Given the description of an element on the screen output the (x, y) to click on. 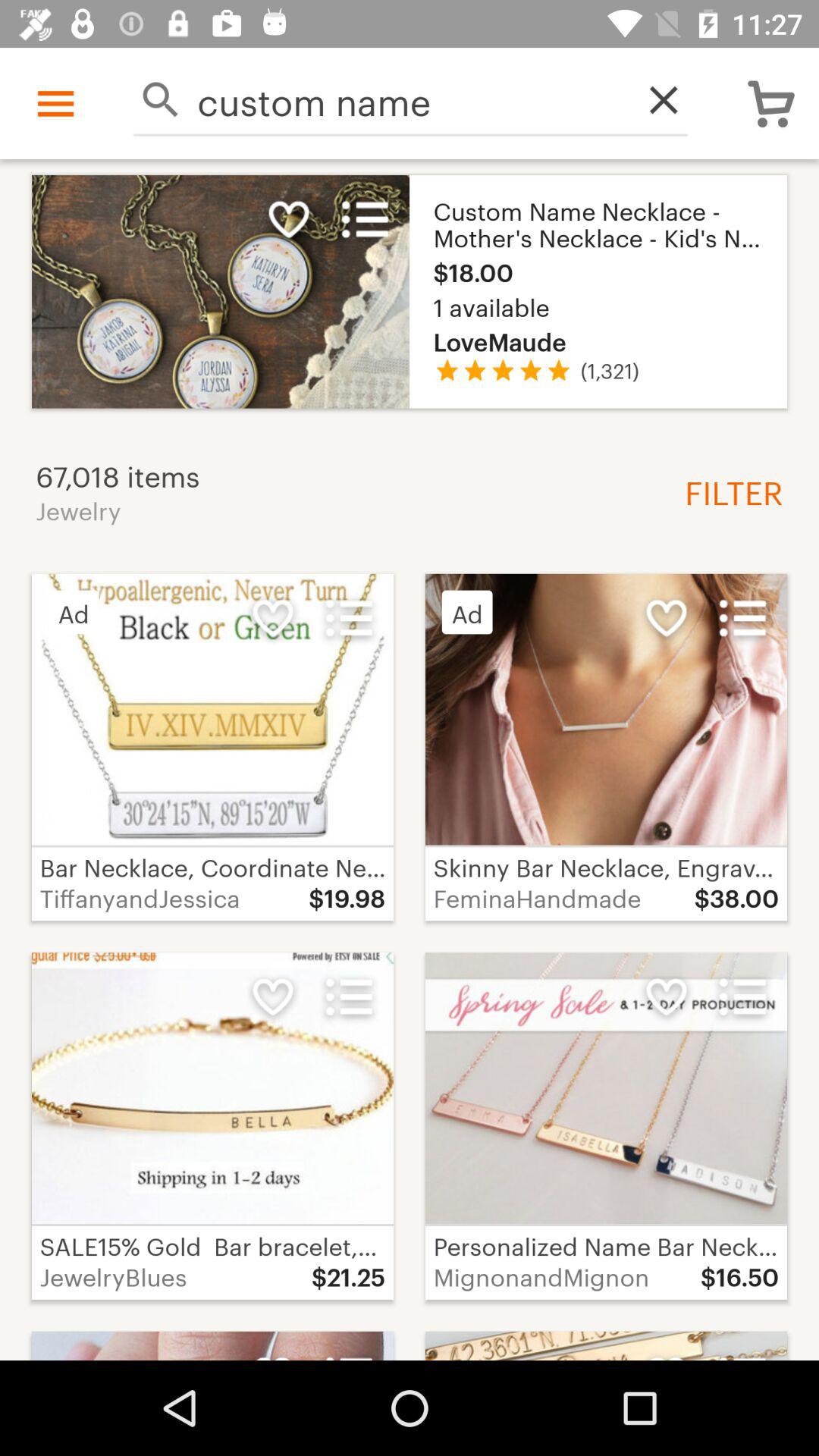
tap item to the right of custom name (655, 99)
